Given the description of an element on the screen output the (x, y) to click on. 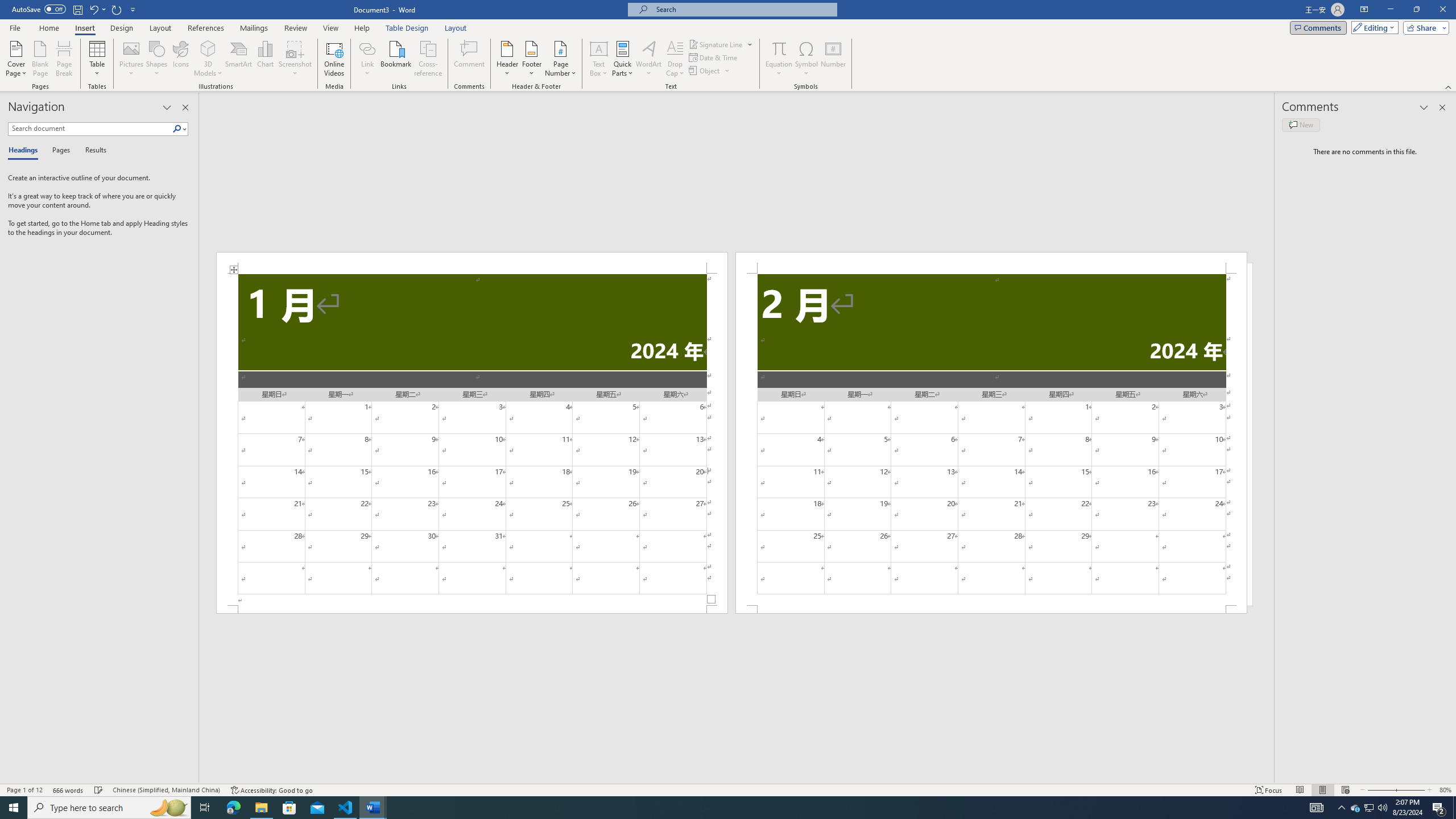
WordArt (648, 58)
3D Models (208, 48)
Shapes (156, 58)
Equation (778, 58)
Object... (705, 69)
Date & Time... (714, 56)
Search document (89, 128)
